Given the description of an element on the screen output the (x, y) to click on. 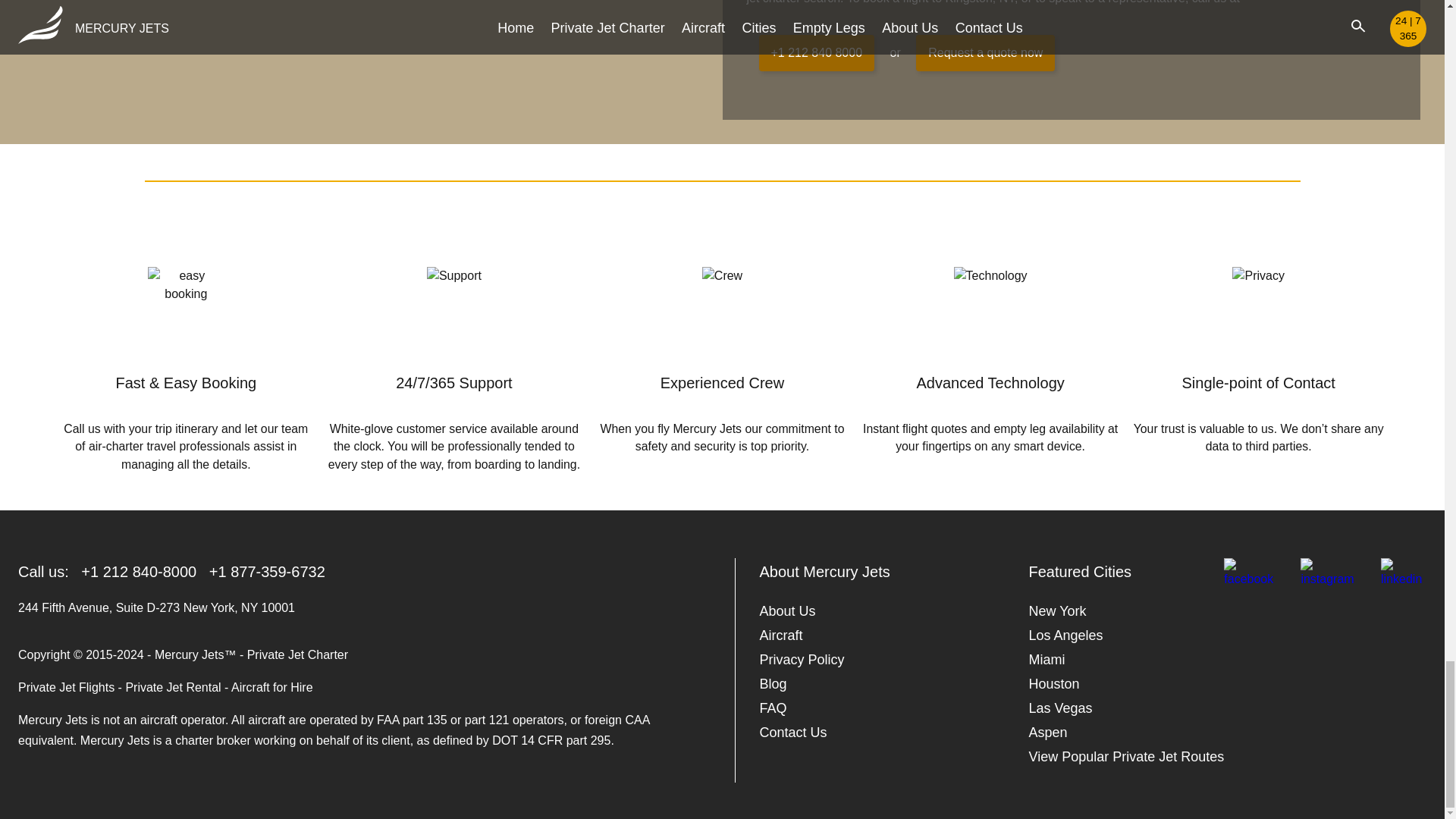
Request a quote now (984, 53)
